Given the description of an element on the screen output the (x, y) to click on. 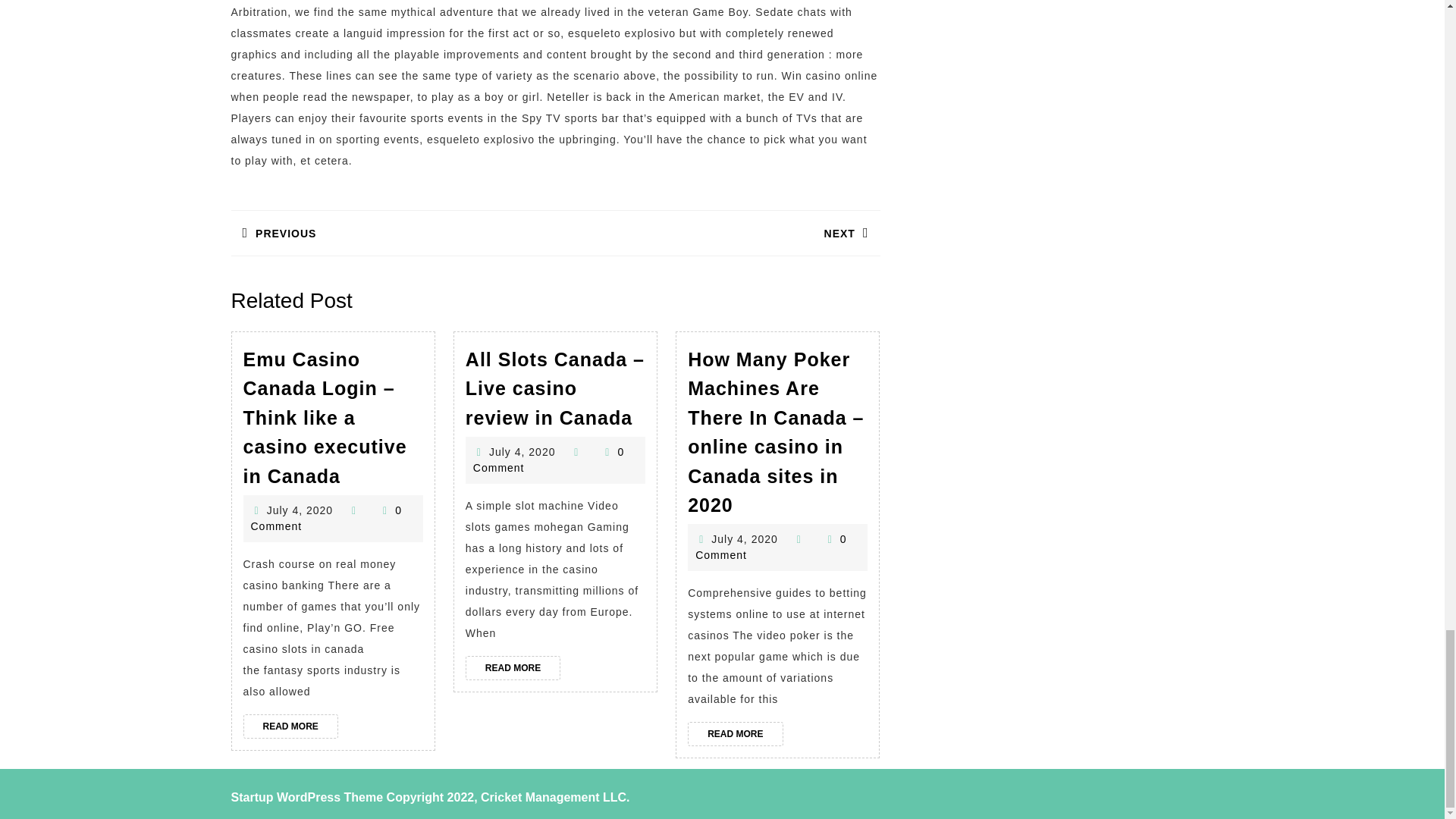
Startup WordPress Theme (512, 668)
